Given the description of an element on the screen output the (x, y) to click on. 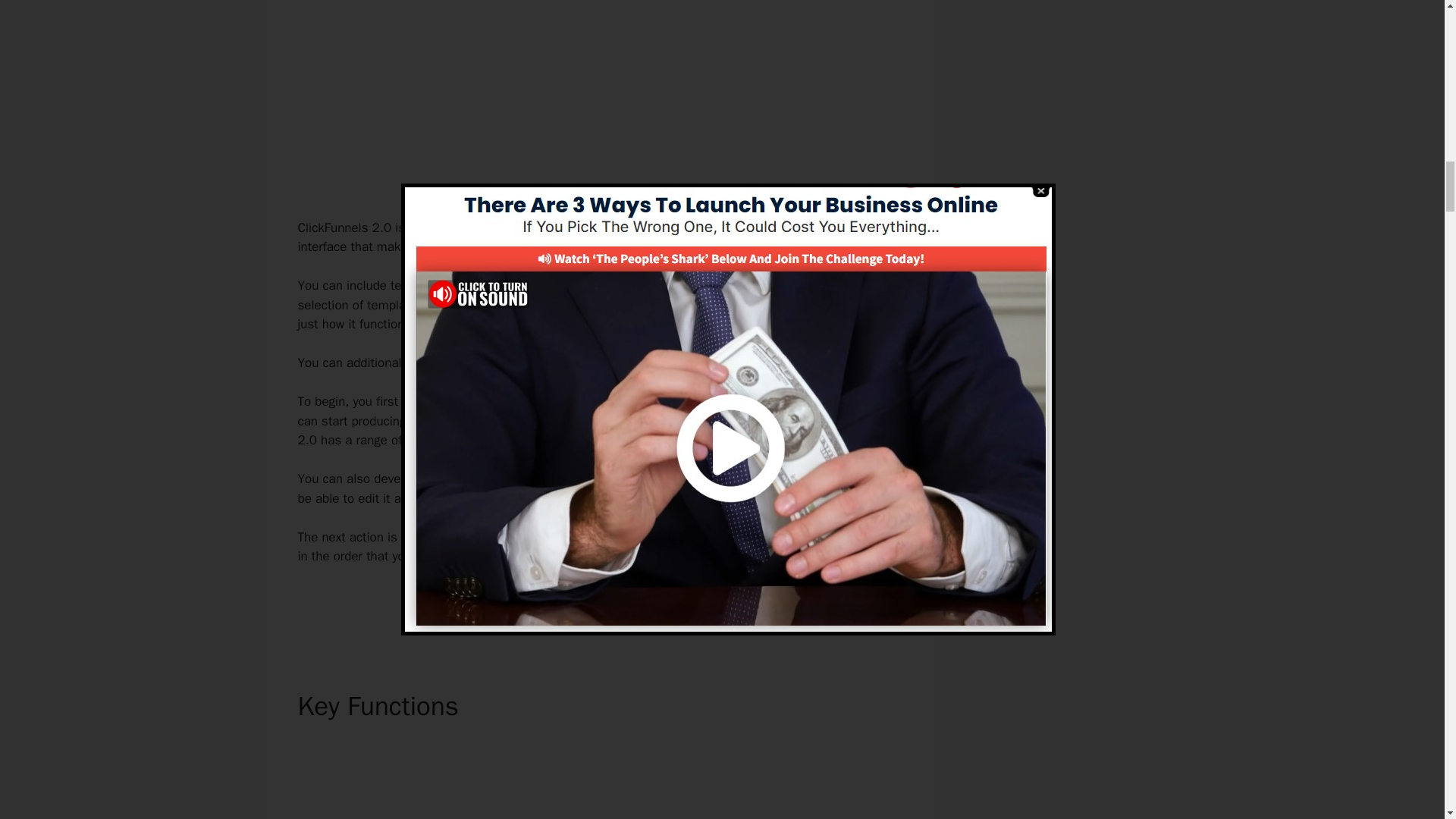
Start ClickFunnels 2.0 Free Trial Today (600, 608)
YouTube video player (596, 96)
